Given the description of an element on the screen output the (x, y) to click on. 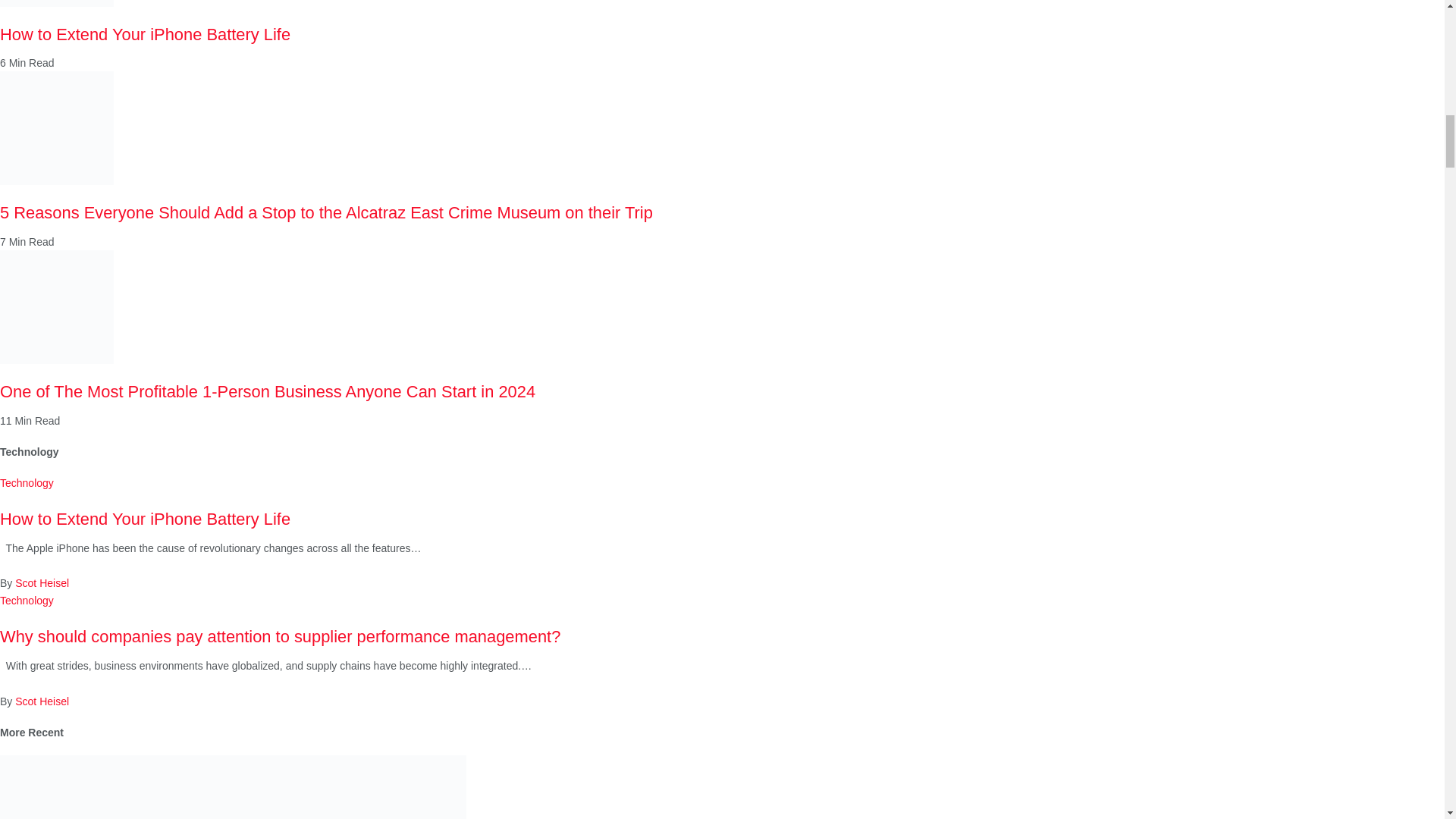
How to Extend Your iPhone Battery Life (56, 3)
